Given the description of an element on the screen output the (x, y) to click on. 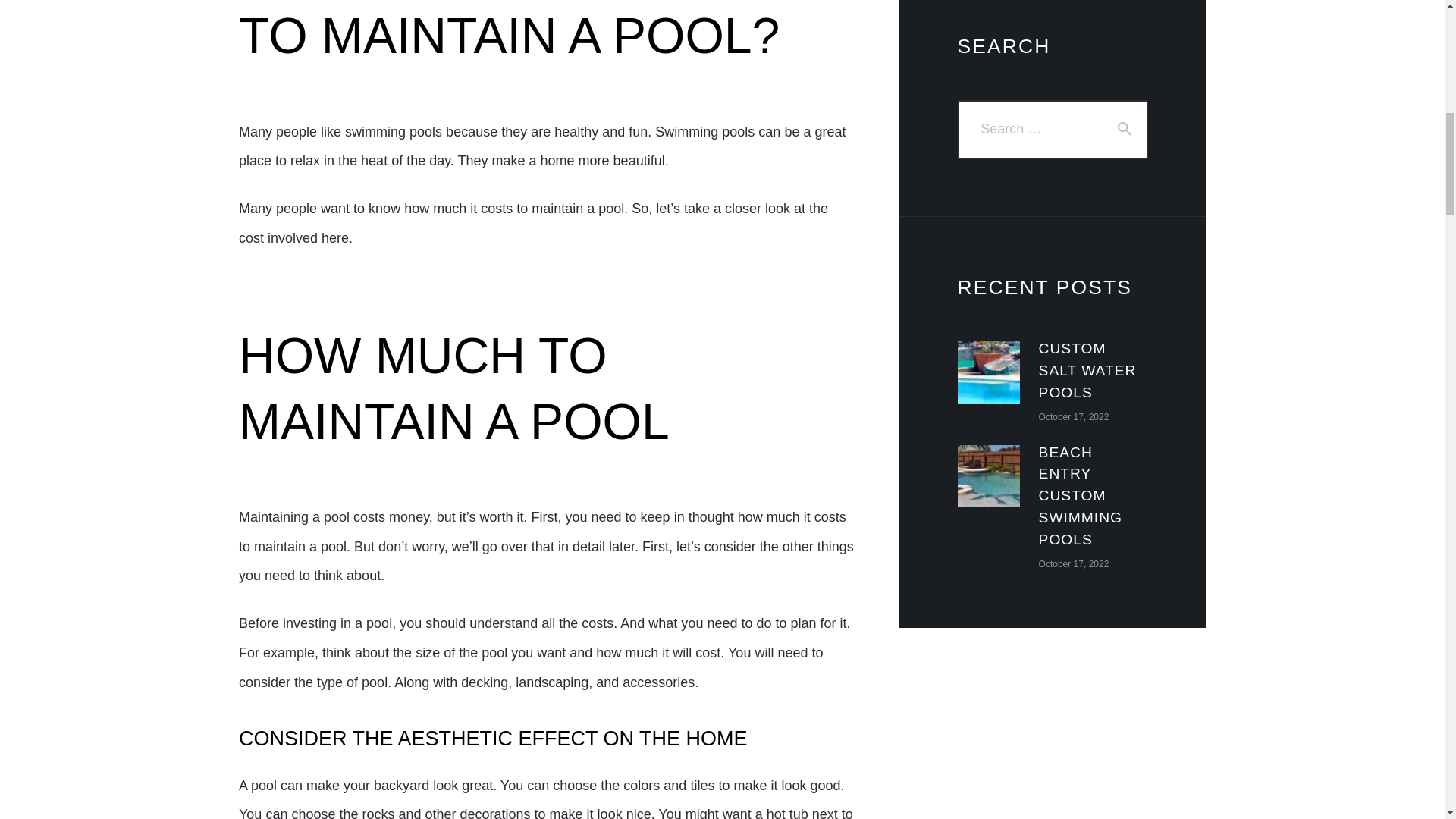
October 17, 2022 (1074, 416)
Search (1125, 128)
Search (1125, 128)
October 17, 2022 (1074, 563)
Search (1125, 128)
CUSTOM SALT WATER POOLS (1093, 371)
BEACH ENTRY CUSTOM SWIMMING POOLS (1093, 496)
